Given the description of an element on the screen output the (x, y) to click on. 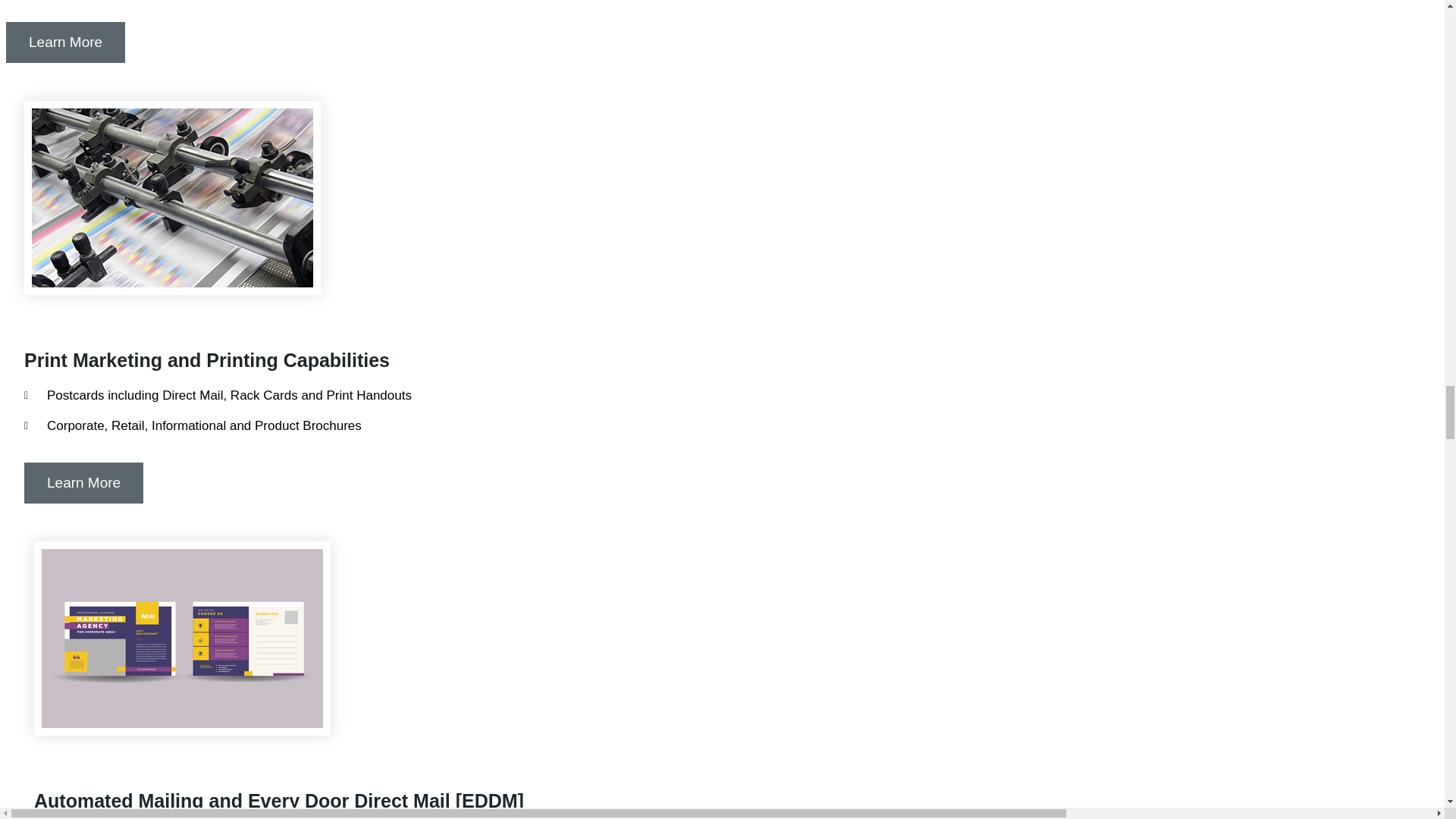
Learn More (83, 482)
Learn More (65, 42)
